Given the description of an element on the screen output the (x, y) to click on. 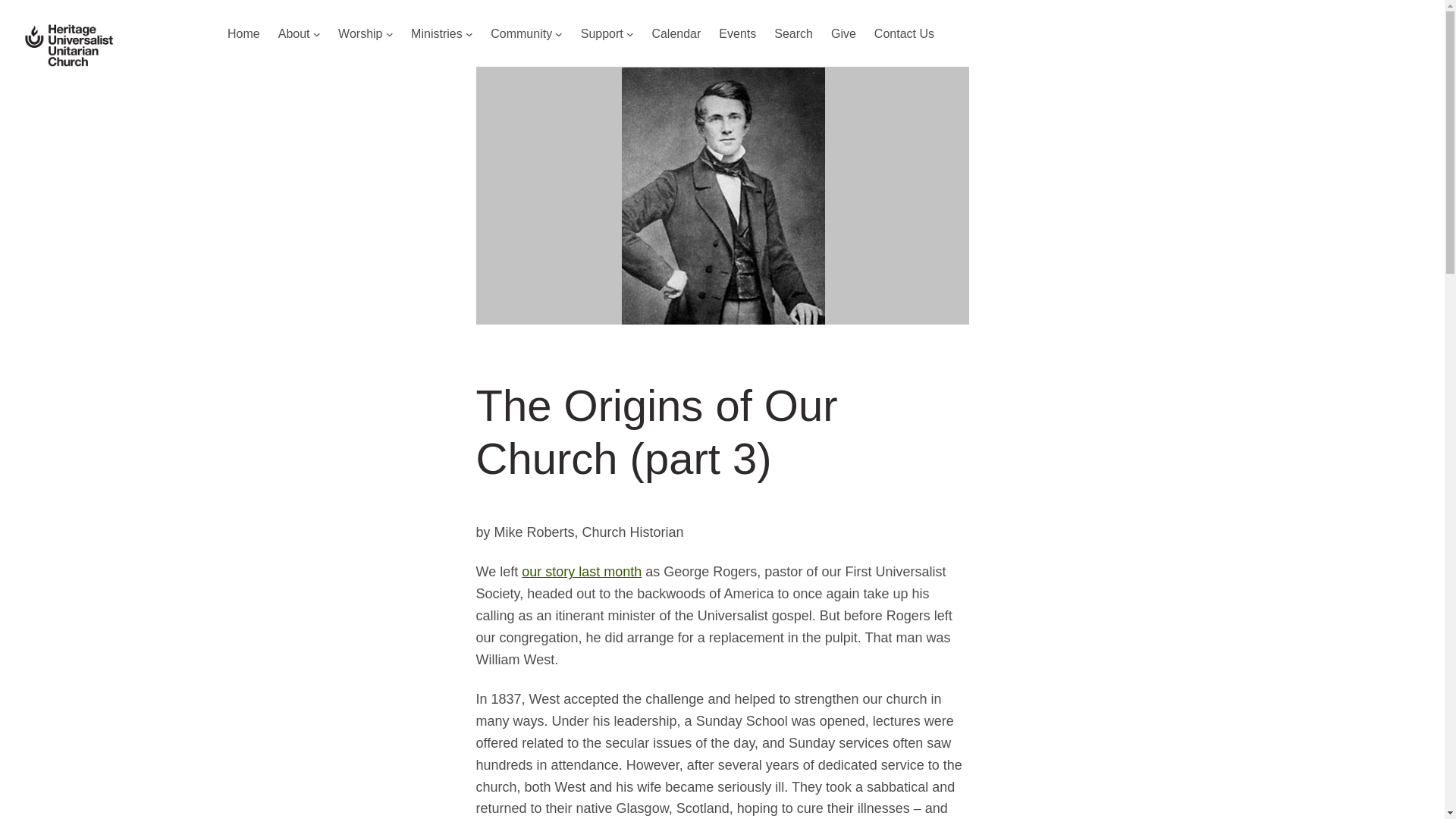
Ministries (436, 34)
About (294, 34)
Community (520, 34)
Worship (359, 34)
Home (243, 34)
